Given the description of an element on the screen output the (x, y) to click on. 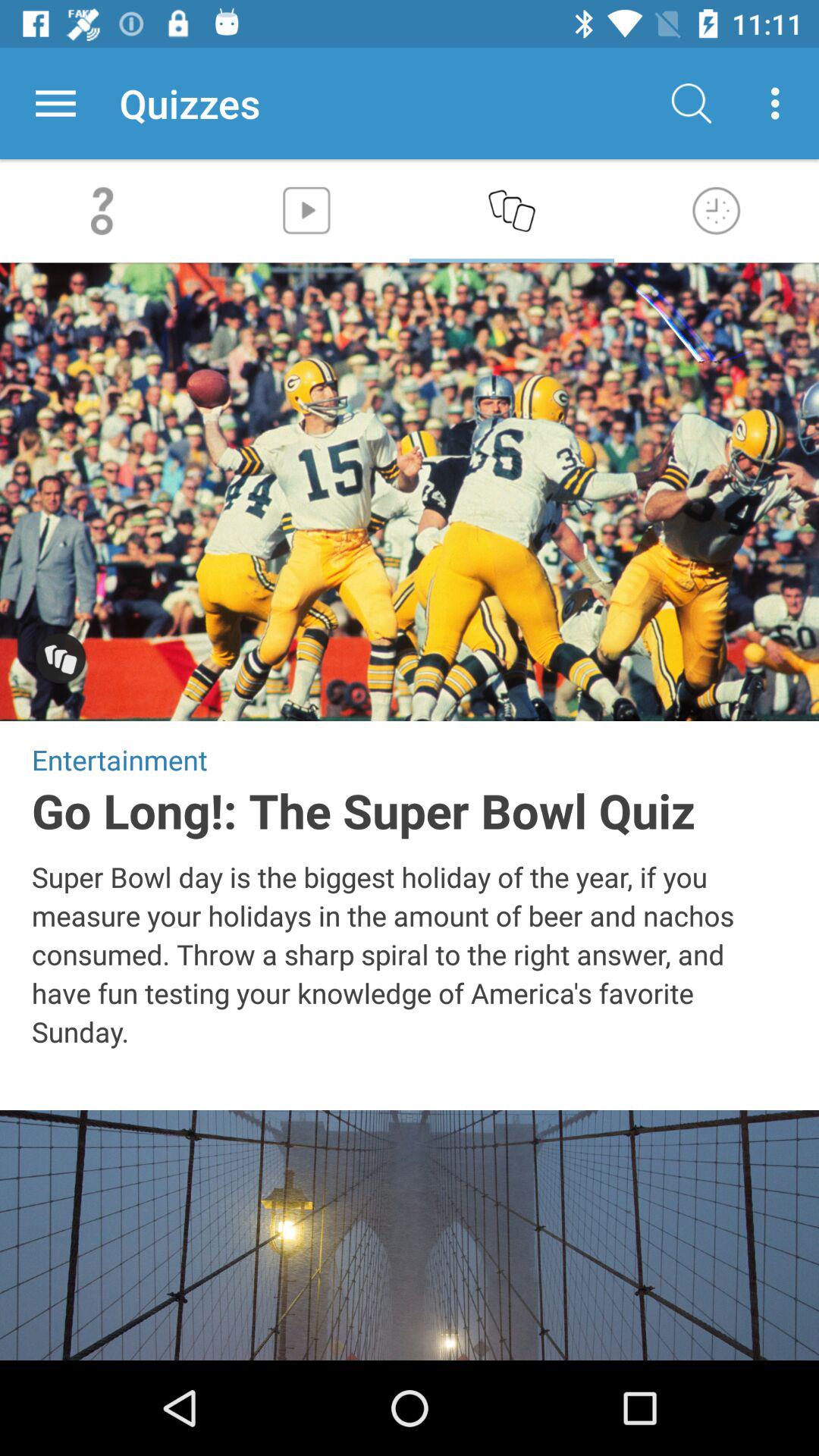
bring up menu (55, 103)
